Given the description of an element on the screen output the (x, y) to click on. 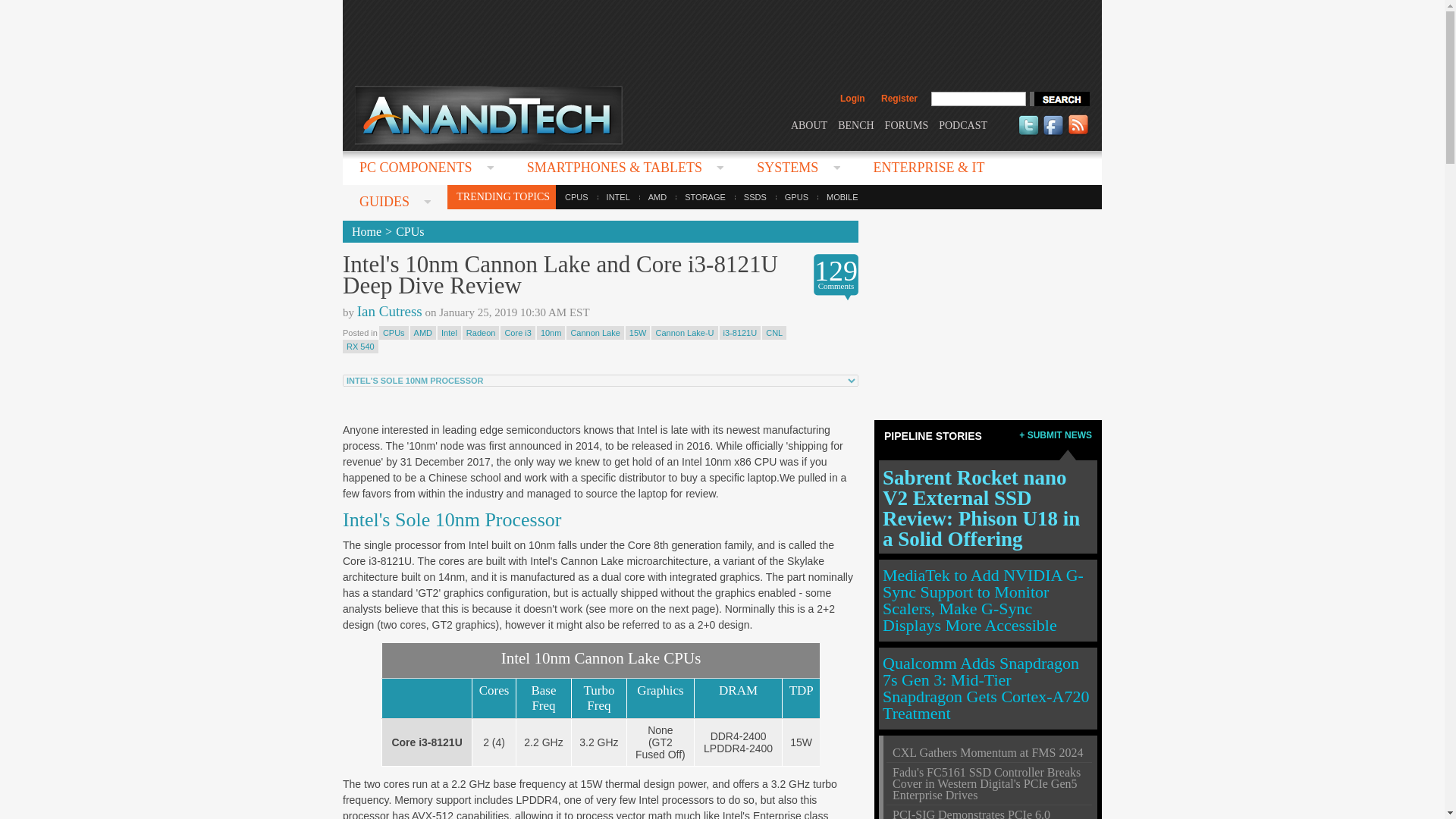
FORUMS (906, 125)
ABOUT (808, 125)
search (1059, 98)
Register (898, 98)
Login (852, 98)
PODCAST (963, 125)
search (1059, 98)
search (1059, 98)
BENCH (855, 125)
